Given the description of an element on the screen output the (x, y) to click on. 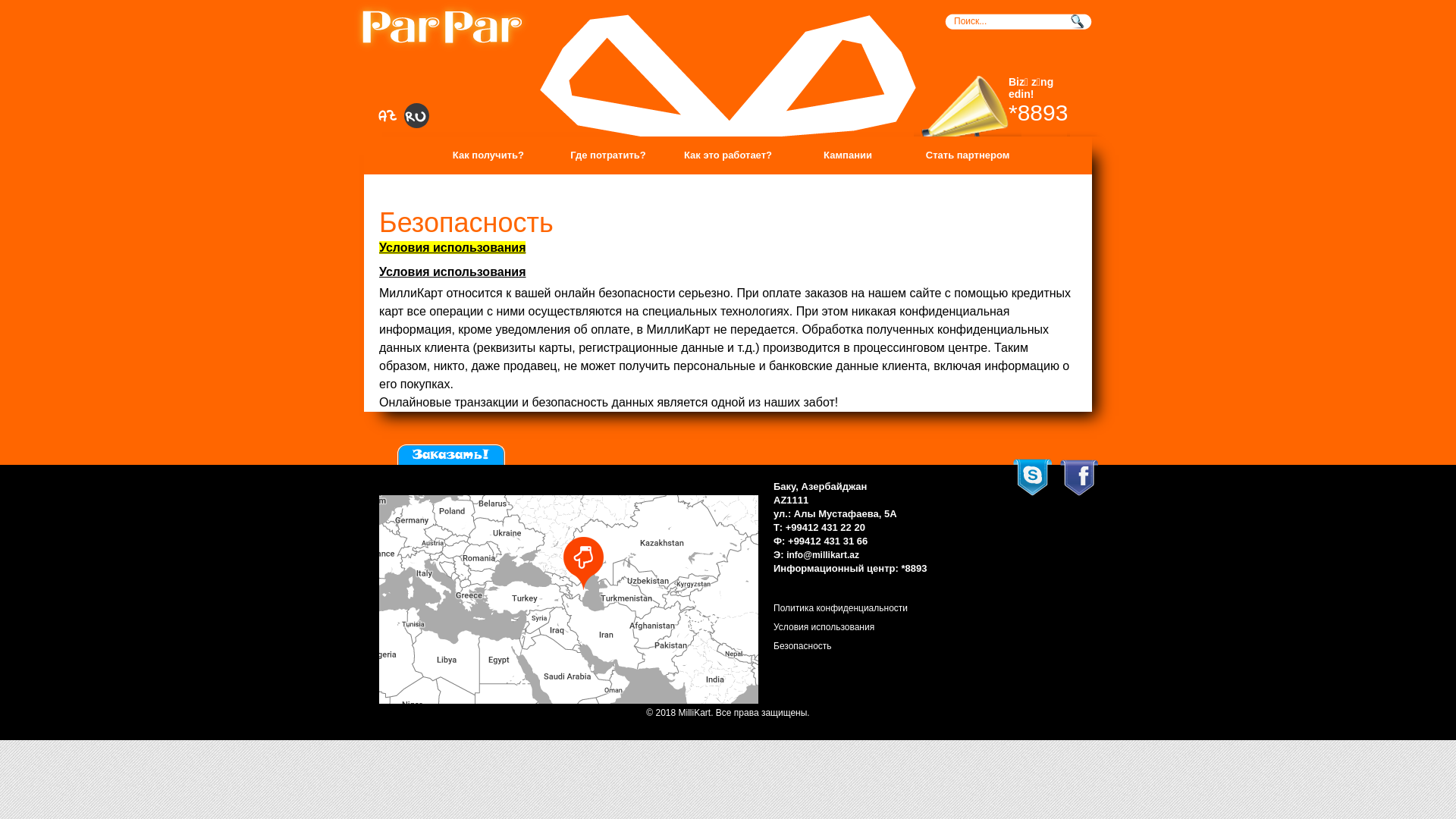
Russian (RU) Element type: hover (415, 116)
Axtar Element type: text (1079, 21)
Skype Element type: hover (1032, 476)
Facebook Element type: hover (1079, 477)
info@millikart.az Element type: text (822, 554)
_ Element type: text (441, 26)
Azeri (AZ) Element type: hover (386, 116)
